Given the description of an element on the screen output the (x, y) to click on. 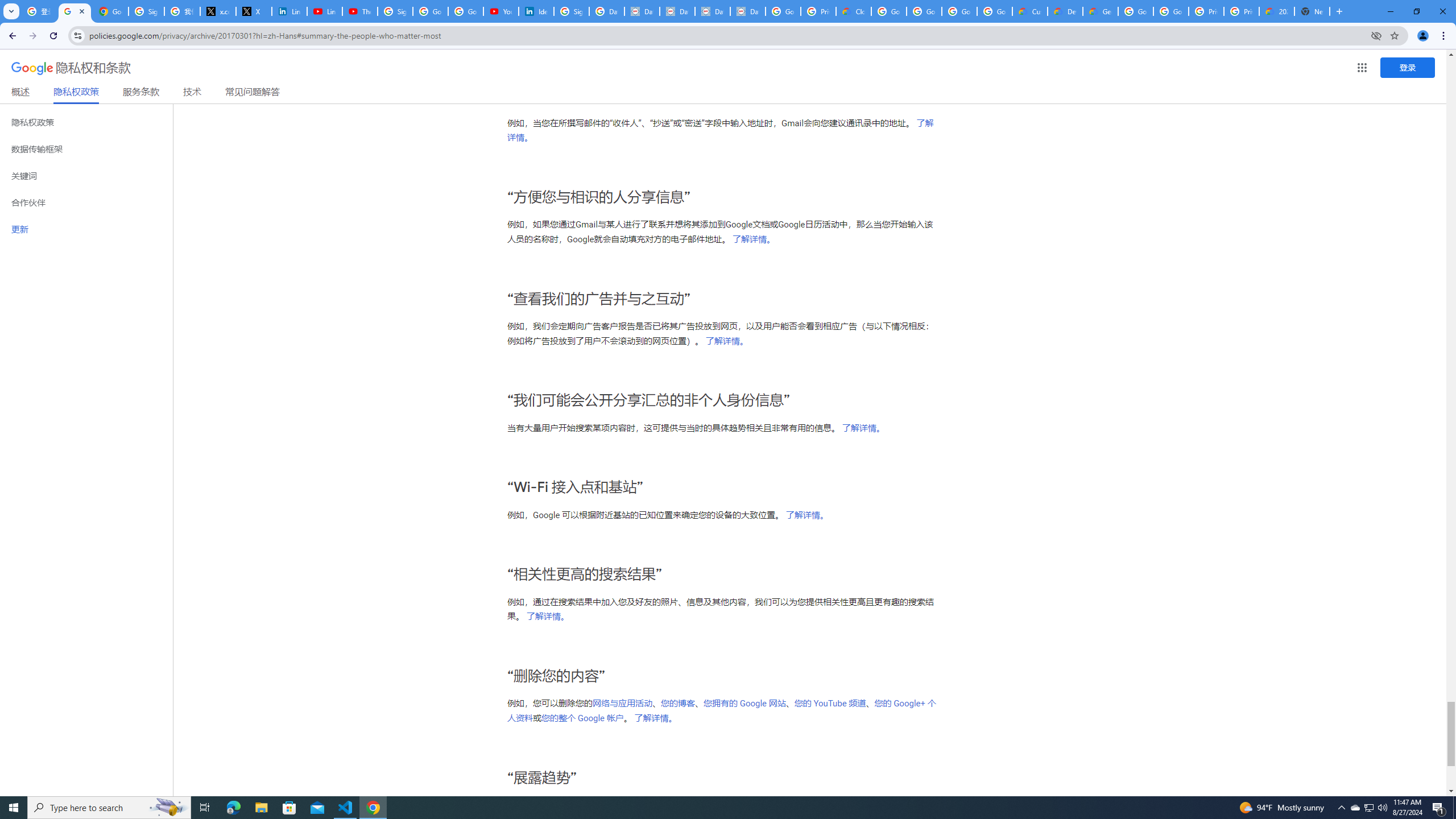
Google Cloud Platform (1170, 11)
